Given the description of an element on the screen output the (x, y) to click on. 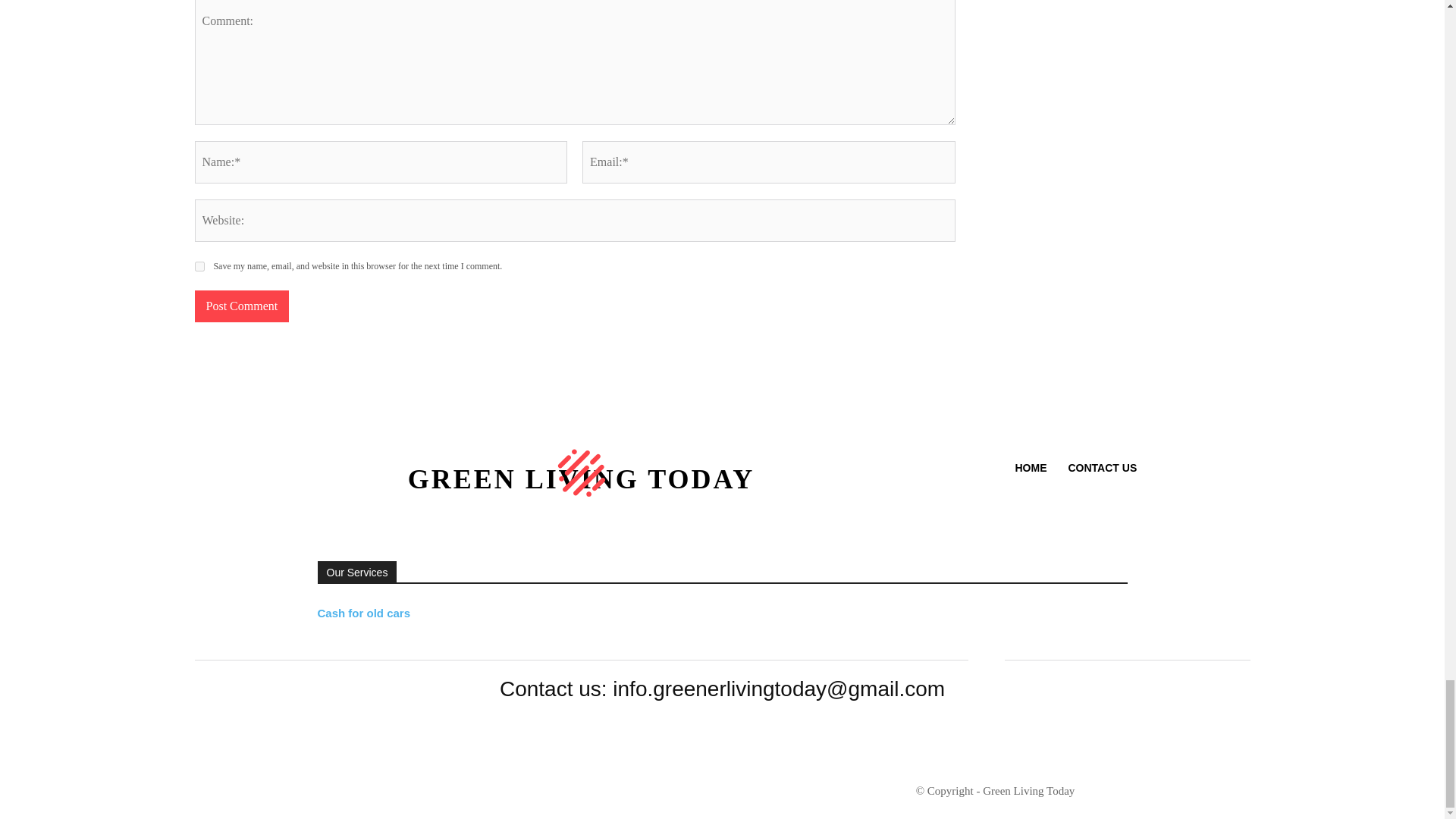
Post Comment (240, 306)
yes (198, 266)
